Given the description of an element on the screen output the (x, y) to click on. 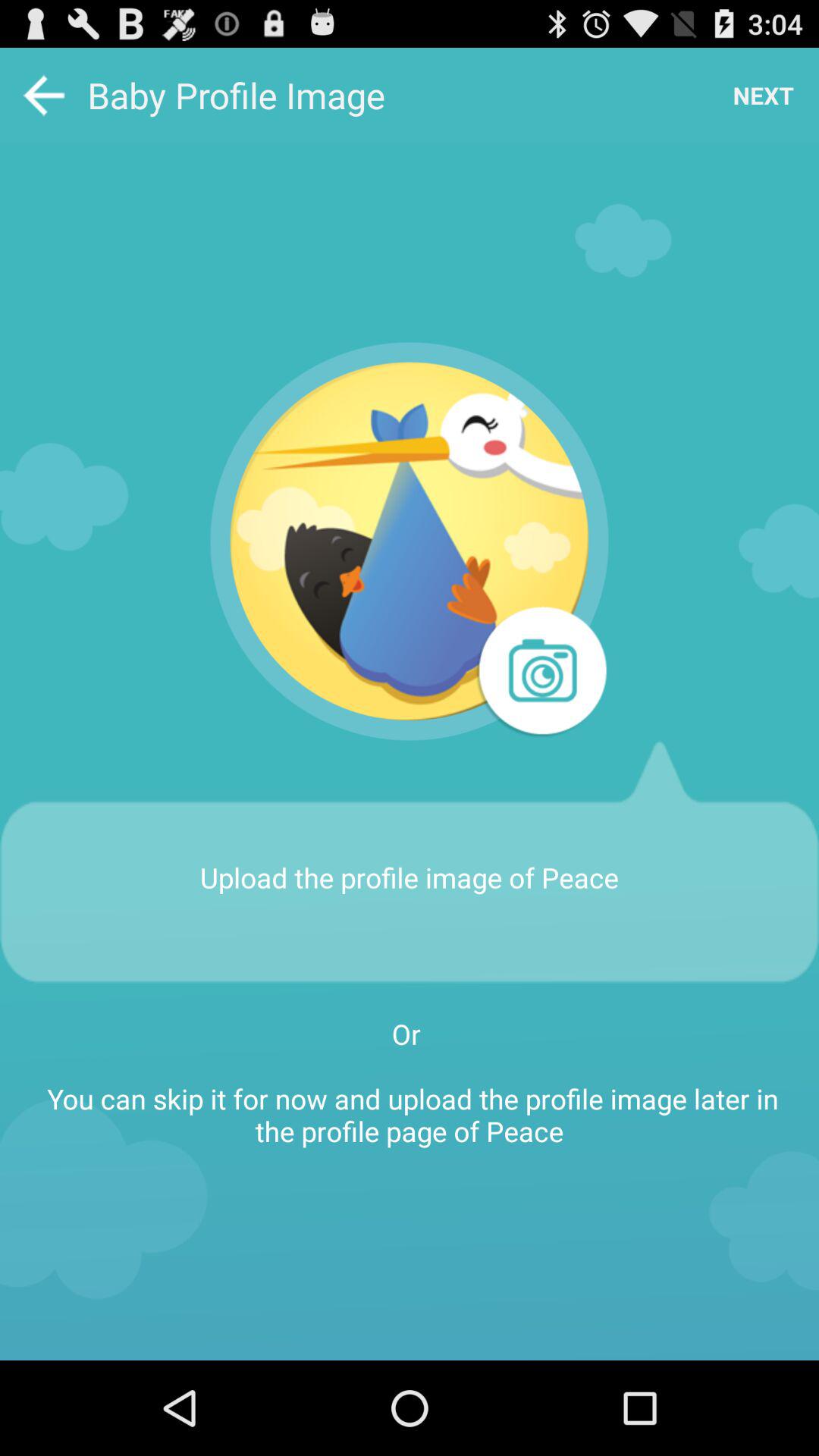
turn off the app below baby profile image app (409, 541)
